Given the description of an element on the screen output the (x, y) to click on. 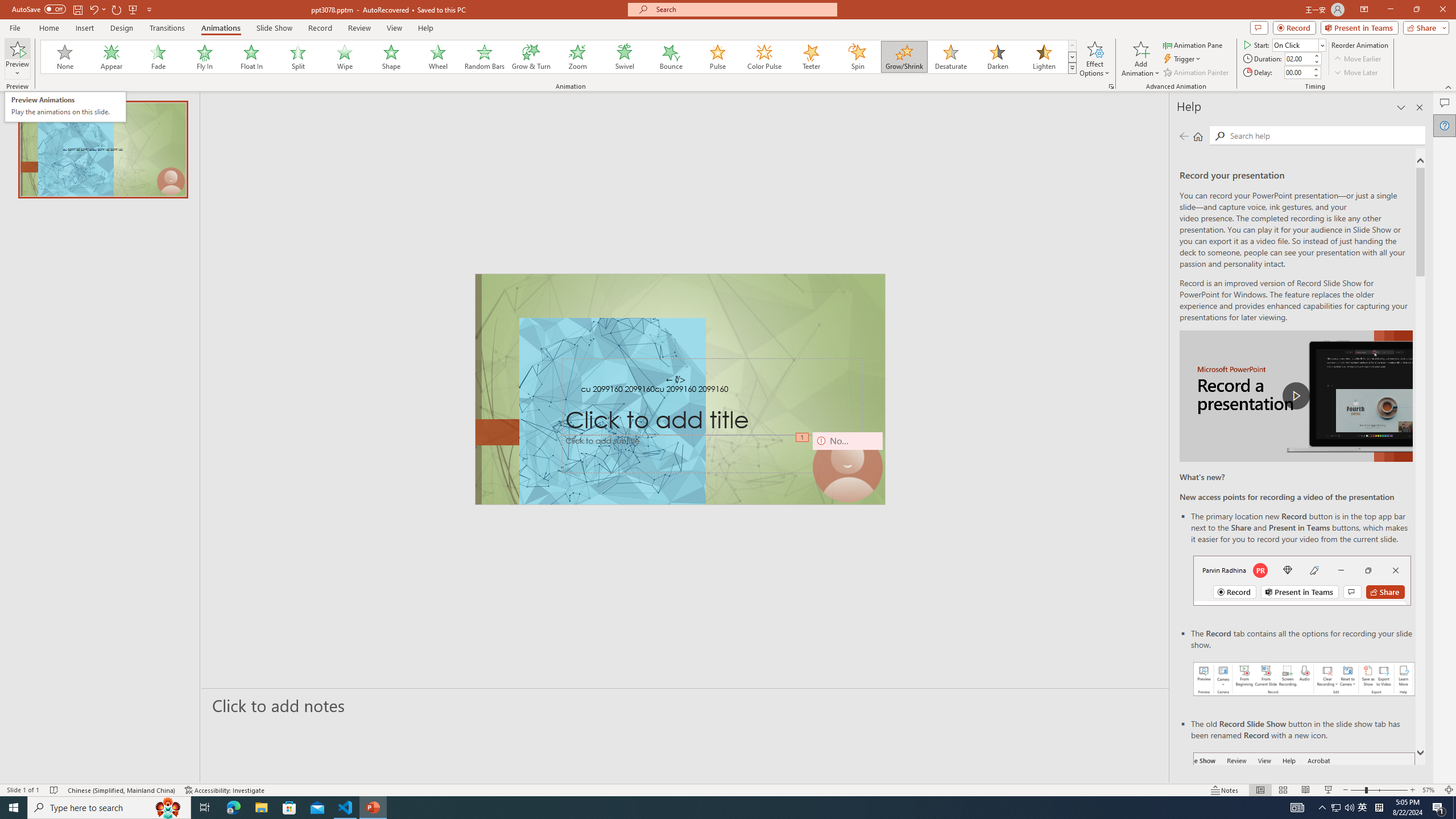
Appear (111, 56)
Shape (391, 56)
Animation Styles (1071, 67)
Subtitle TextBox (712, 453)
Camera 9, No camera detected. (846, 466)
Fade (158, 56)
